Given the description of an element on the screen output the (x, y) to click on. 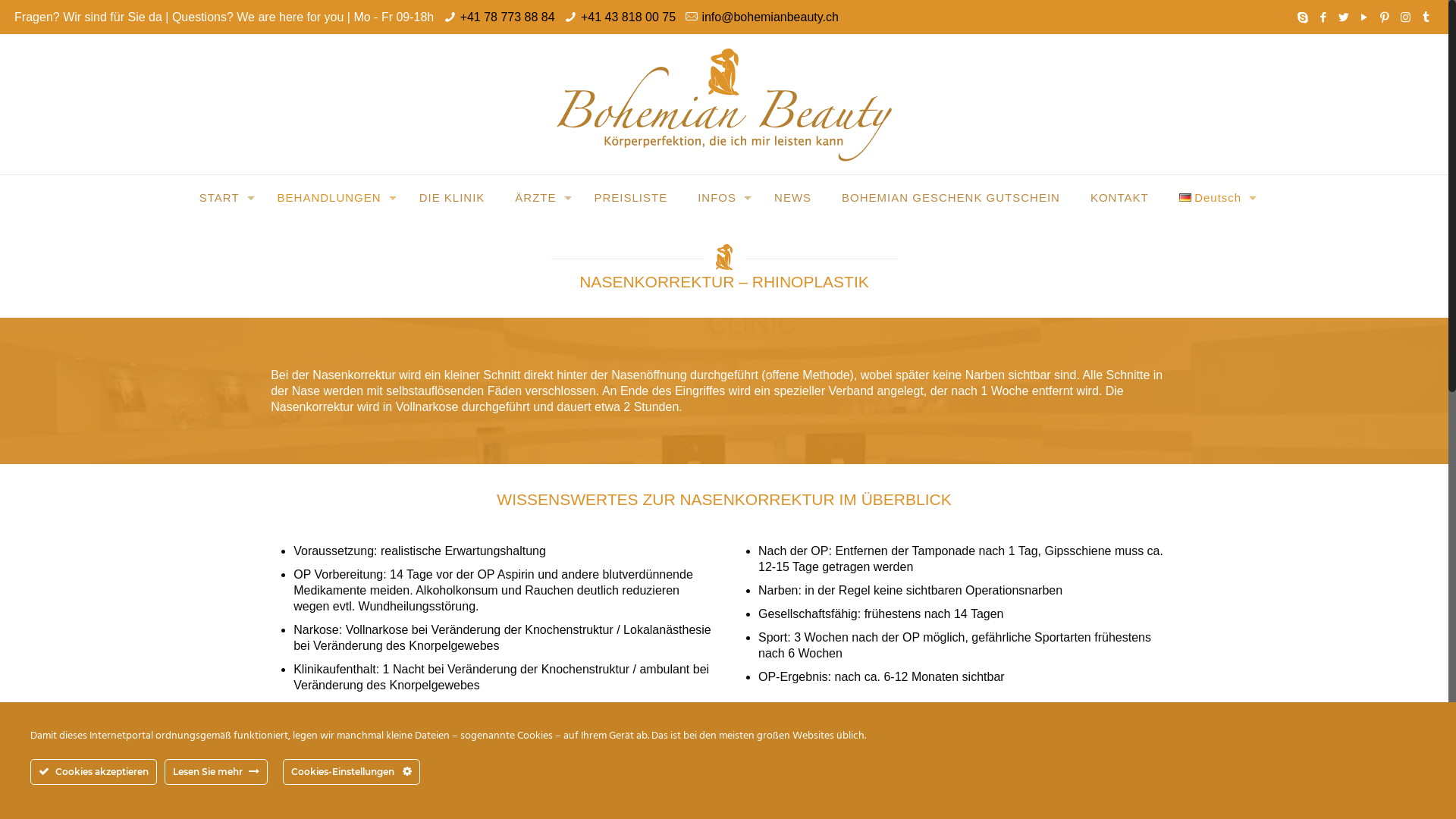
DIE KLINIK Element type: text (452, 197)
BOHEMIAN GESCHENK GUTSCHEIN Element type: text (950, 197)
Skype Element type: hover (1303, 16)
Twitter Element type: hover (1344, 16)
YouTube Element type: hover (1364, 16)
Deutsch Element type: text (1214, 197)
Facebook Element type: hover (1323, 16)
NEWS Element type: text (792, 197)
PREISLISTE Element type: text (631, 197)
BEHANDLUNGEN Element type: text (333, 197)
info@bohemianbeauty.ch Element type: text (769, 16)
Bohemian Beauty Element type: hover (723, 104)
Pinterest Element type: hover (1385, 16)
KONTAKT Element type: text (1119, 197)
+41 78 773 88 84 Element type: text (507, 16)
Tumblr Element type: hover (1426, 16)
INFOS Element type: text (720, 197)
Instagram Element type: hover (1405, 16)
START Element type: text (223, 197)
+41 43 818 00 75 Element type: text (627, 16)
